Given the description of an element on the screen output the (x, y) to click on. 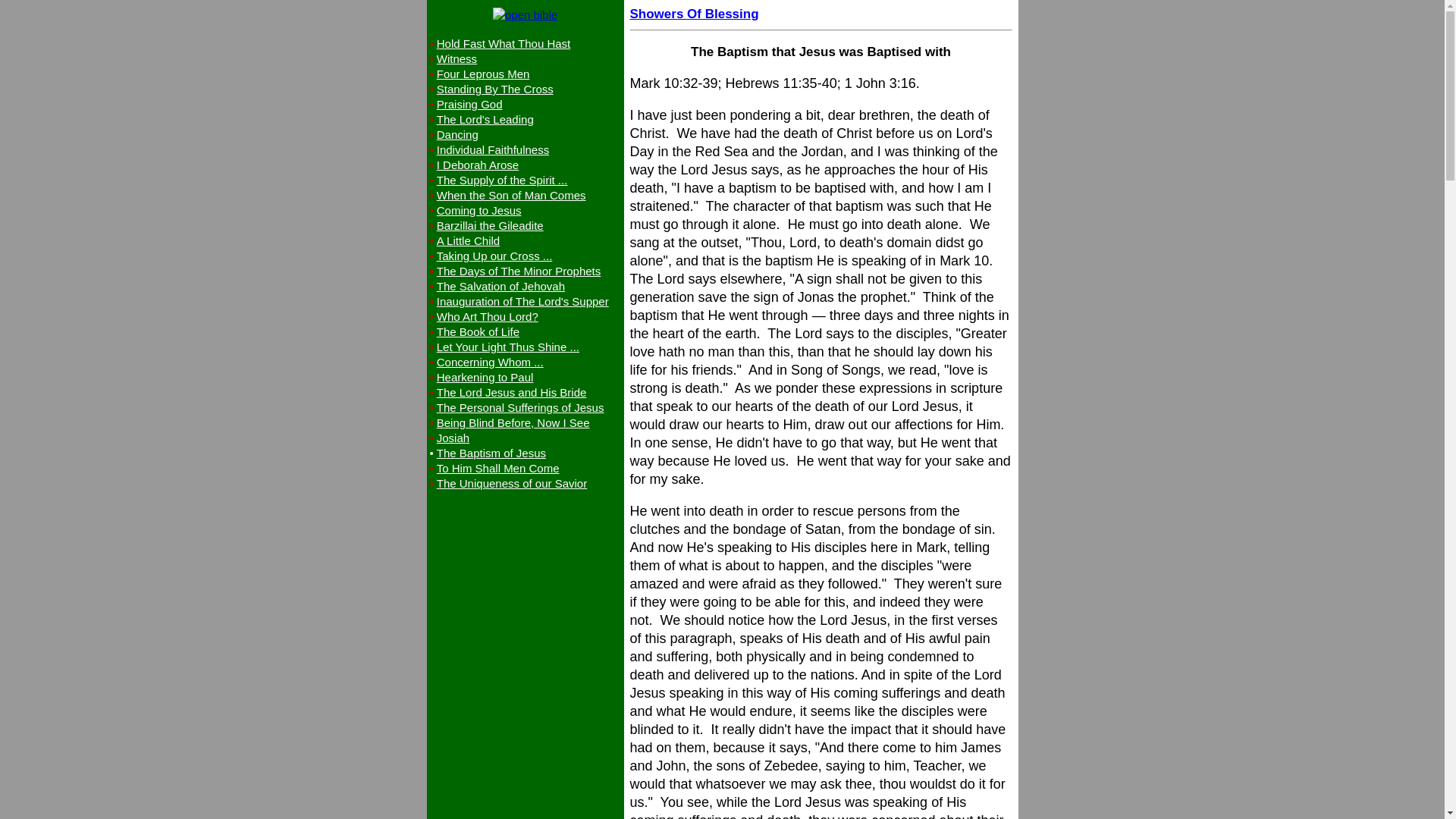
Standing By The Cross (494, 88)
Four Leprous Men (482, 73)
The Baptism of Jesus (491, 452)
Four Leprous Men (482, 73)
Who Art Thou, Lord? (487, 316)
A Little Child (467, 240)
Uniqueness of our Savior (511, 482)
Taking Up Our Cross And Following Jesus (494, 255)
Let Your Light Shine ... (507, 346)
The Days Of The Minor Prophets (518, 270)
The Minor Prophets (518, 270)
When the Son of Man (511, 195)
Individual Faithfulness (492, 149)
To Him Shall Men Come (497, 468)
Dancing (457, 133)
